Given the description of an element on the screen output the (x, y) to click on. 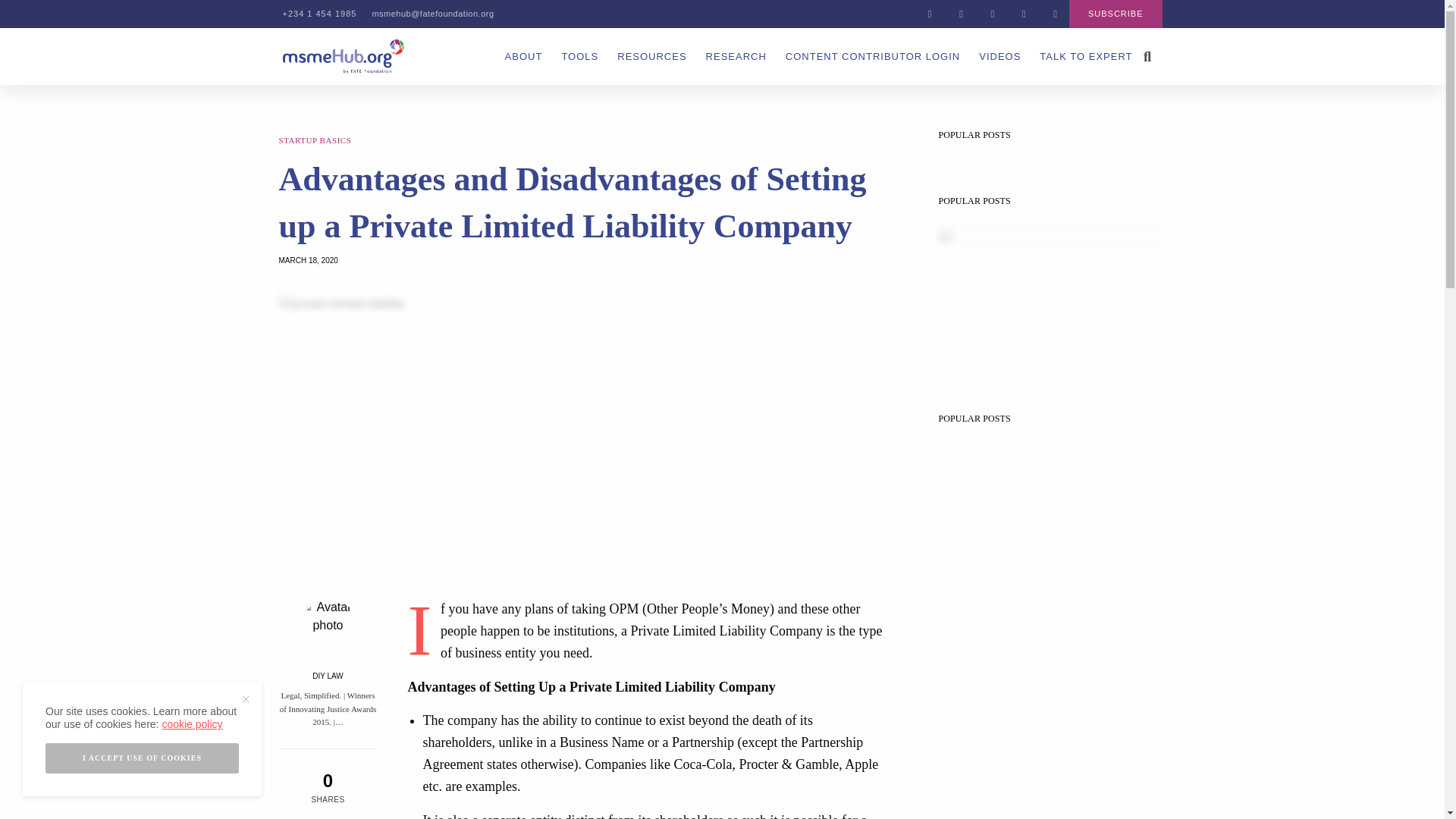
ABOUT (524, 55)
TOOLS (579, 55)
RESOURCES (651, 55)
SUBSCRIBE (1114, 13)
